Given the description of an element on the screen output the (x, y) to click on. 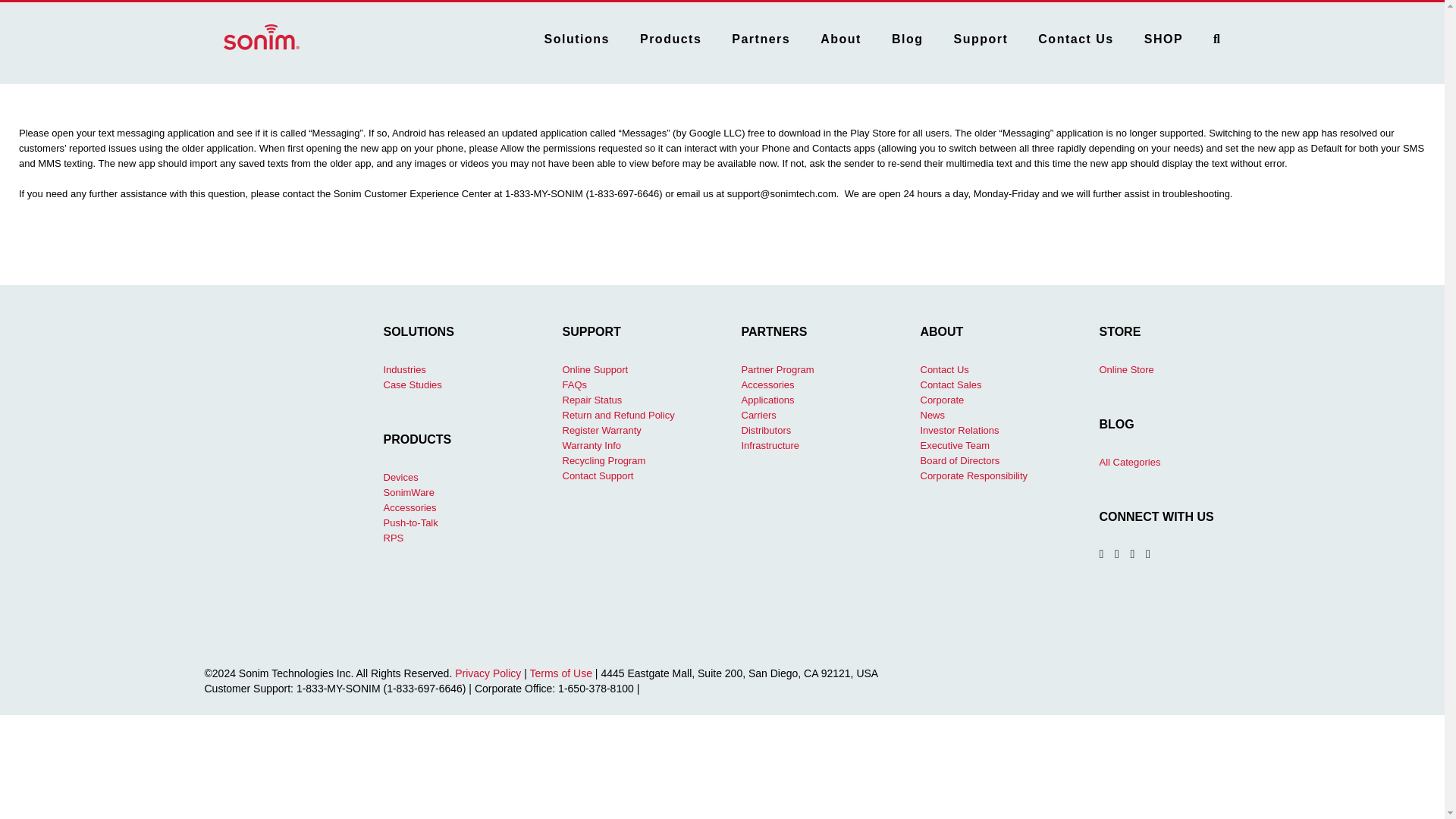
Solutions (577, 37)
Contact Us (1075, 37)
Products (670, 37)
